Given the description of an element on the screen output the (x, y) to click on. 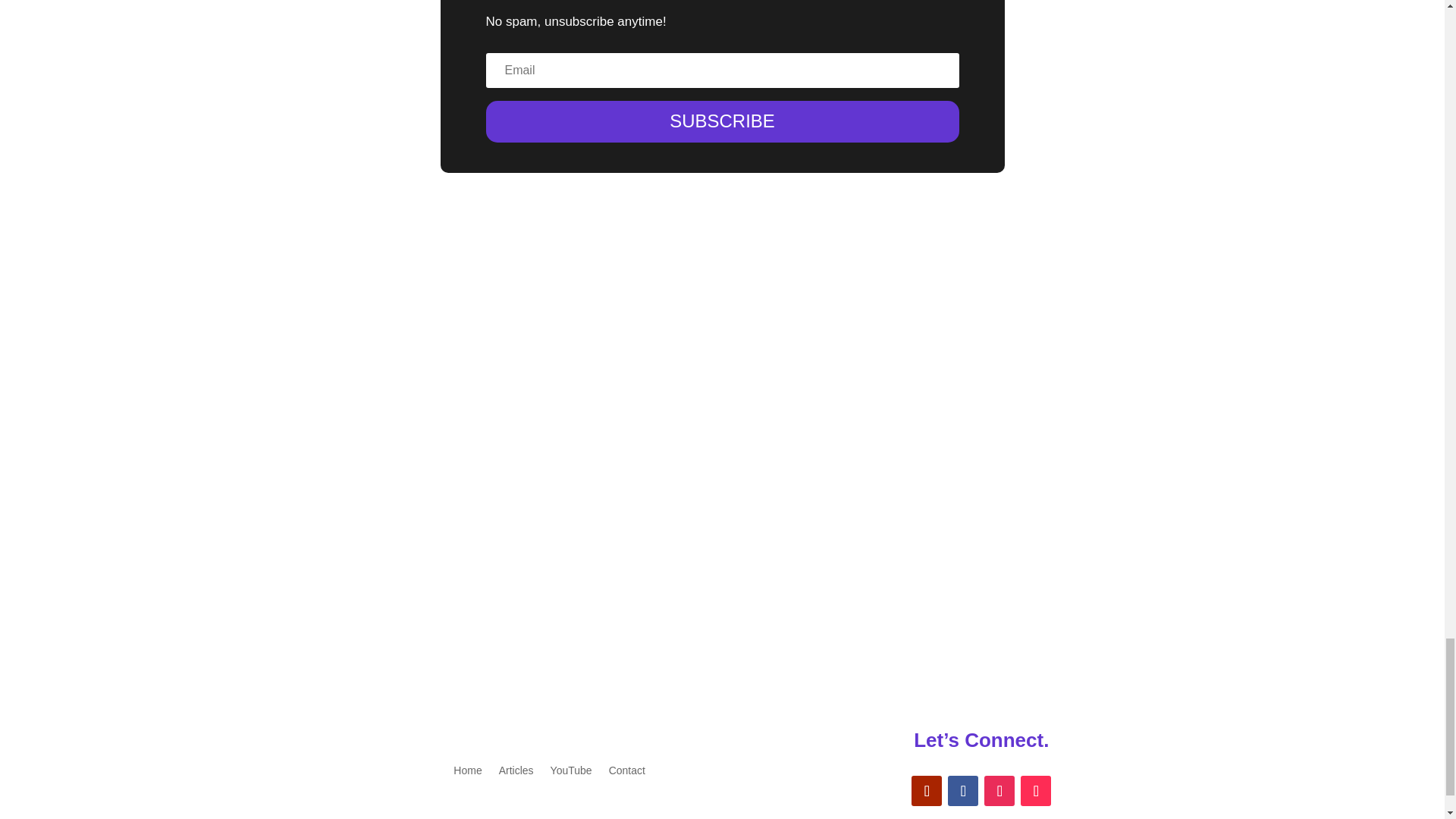
Contact (626, 767)
Follow on Instagram (999, 790)
YouTube (571, 767)
SUBSCRIBE (721, 121)
Follow on Youtube (926, 790)
Follow on Facebook (962, 790)
Home (466, 767)
Articles (516, 767)
Follow on TikTok (1035, 790)
